Given the description of an element on the screen output the (x, y) to click on. 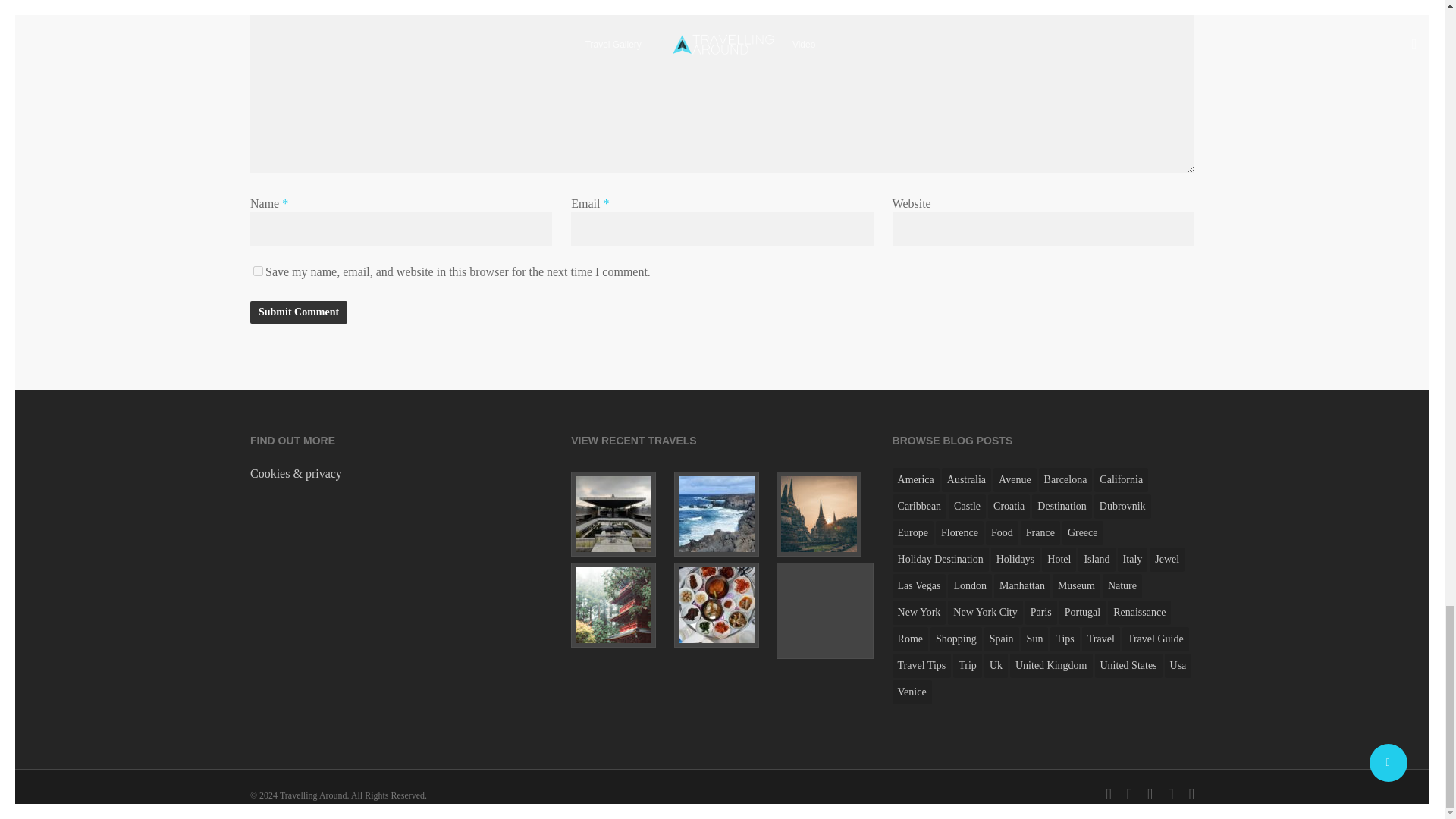
Submit Comment (298, 312)
Japan (618, 604)
Mexico (618, 513)
Thailand-Cambodia (824, 513)
Korea (722, 604)
Lanzarote (722, 513)
yes (258, 271)
